Given the description of an element on the screen output the (x, y) to click on. 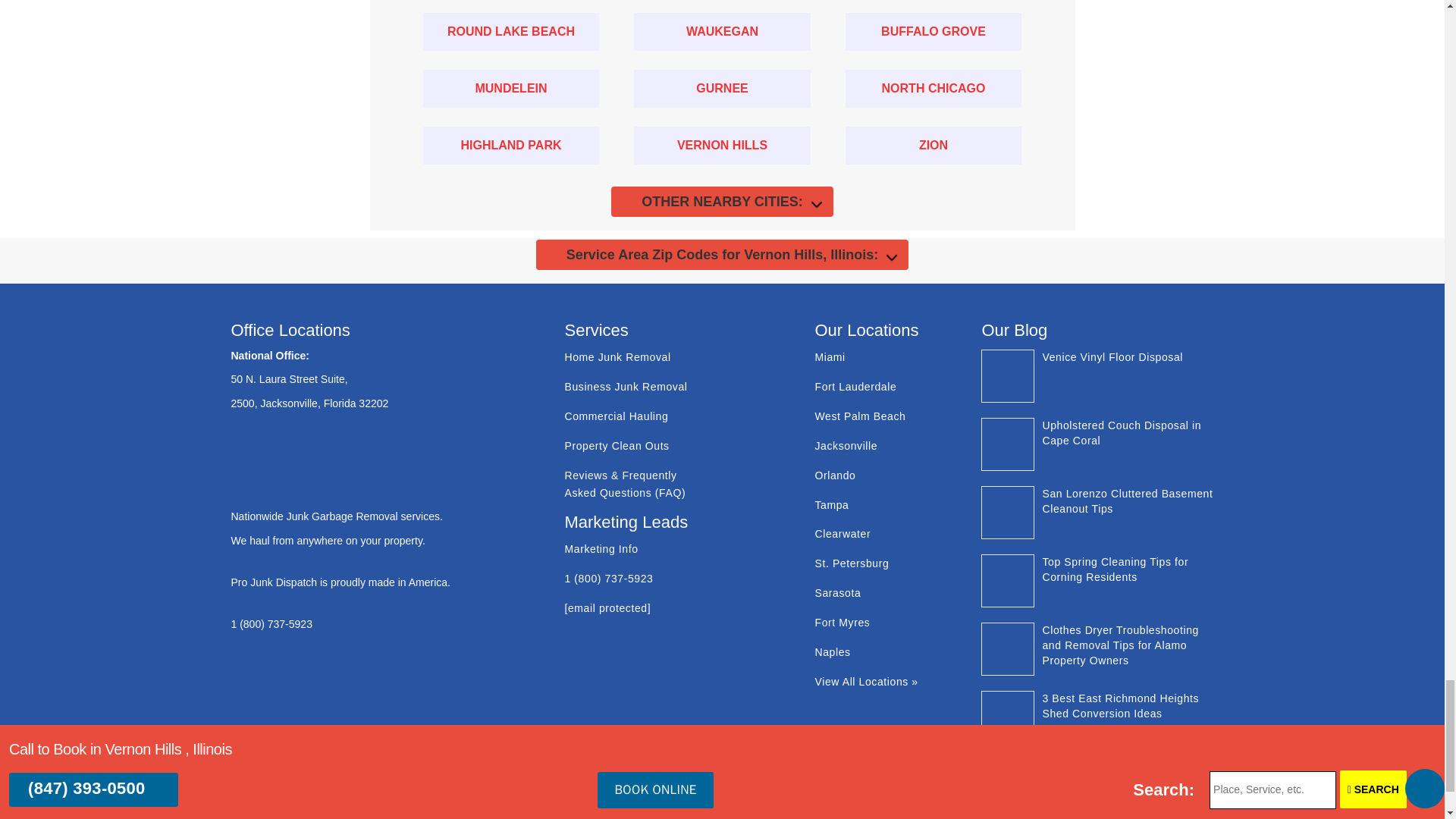
Lake County IL Lake County - IL - T80 City of Waukegan (721, 31)
Lake County IL Lake - IL - T80 City of North Chicago (933, 88)
Lake County IL Lake County - IL - T80 City of Mundelein (511, 88)
Lake County IL Lake County - IL - T80 City of Highland Park (511, 145)
Lake County IL Lake - IL - T80 City of Round Lake Beach (511, 31)
Lake County IL Lake County - IL - T80 City of Gurnee (721, 88)
Lake County IL Lake County - IL - T80 City of Buffalo Grove (933, 31)
